Given the description of an element on the screen output the (x, y) to click on. 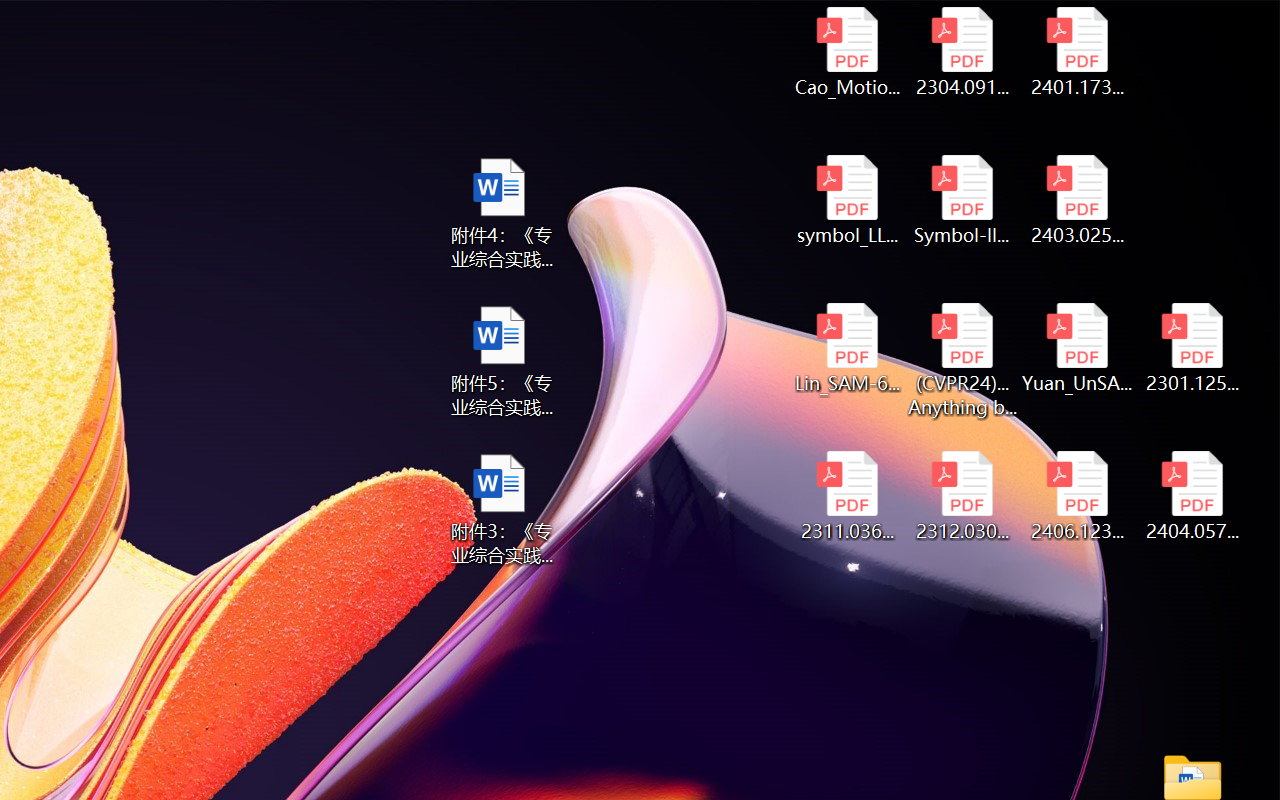
2401.17399v1.pdf (1077, 52)
